Given the description of an element on the screen output the (x, y) to click on. 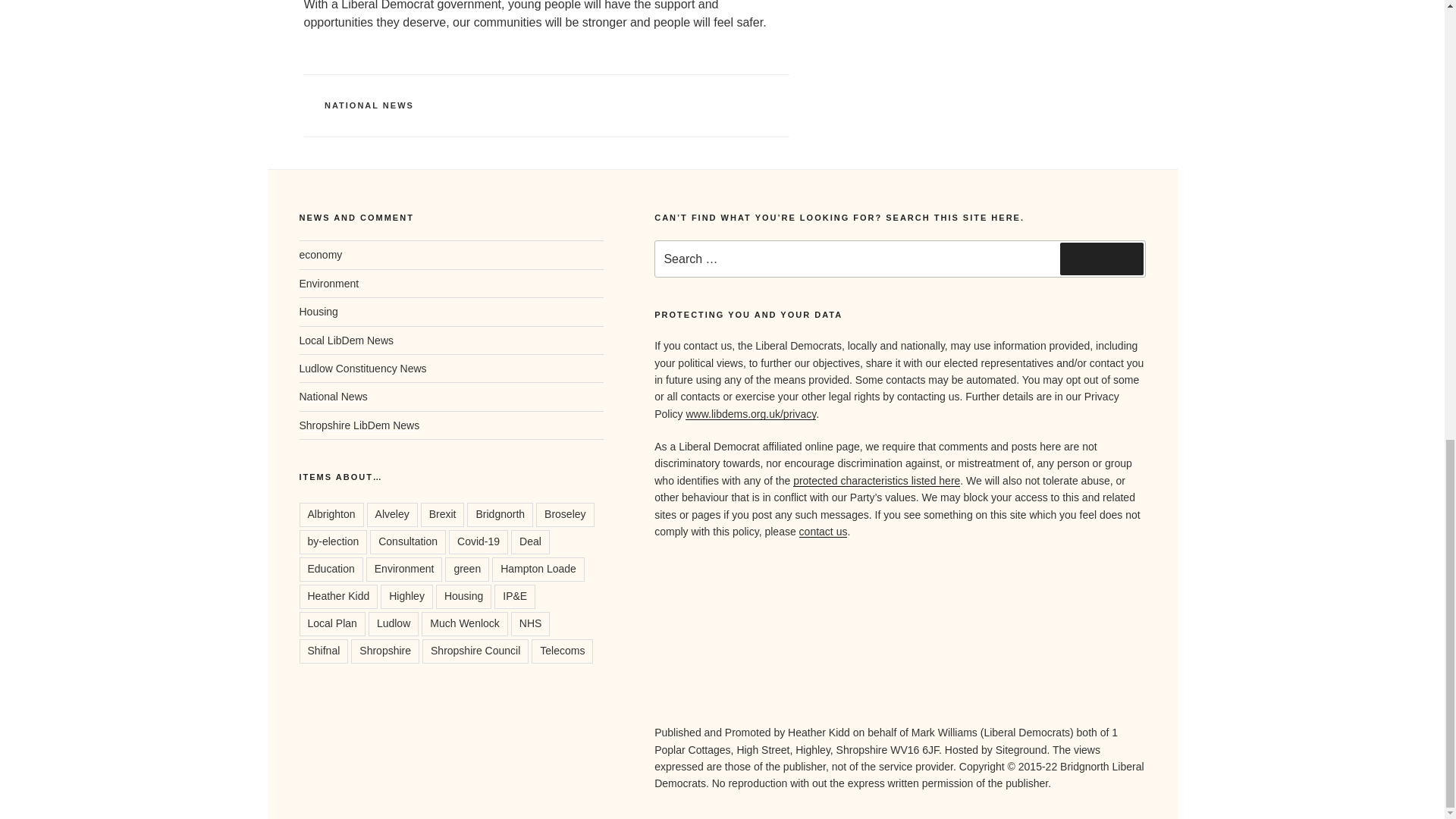
by-election (332, 541)
Bridgnorth (499, 514)
Housing (317, 311)
NATIONAL NEWS (368, 104)
Shropshire LibDem News (358, 425)
National News (332, 396)
Ludlow Constituency News (362, 368)
Local LibDem News (345, 340)
Consultation (407, 541)
Environment (328, 283)
